Given the description of an element on the screen output the (x, y) to click on. 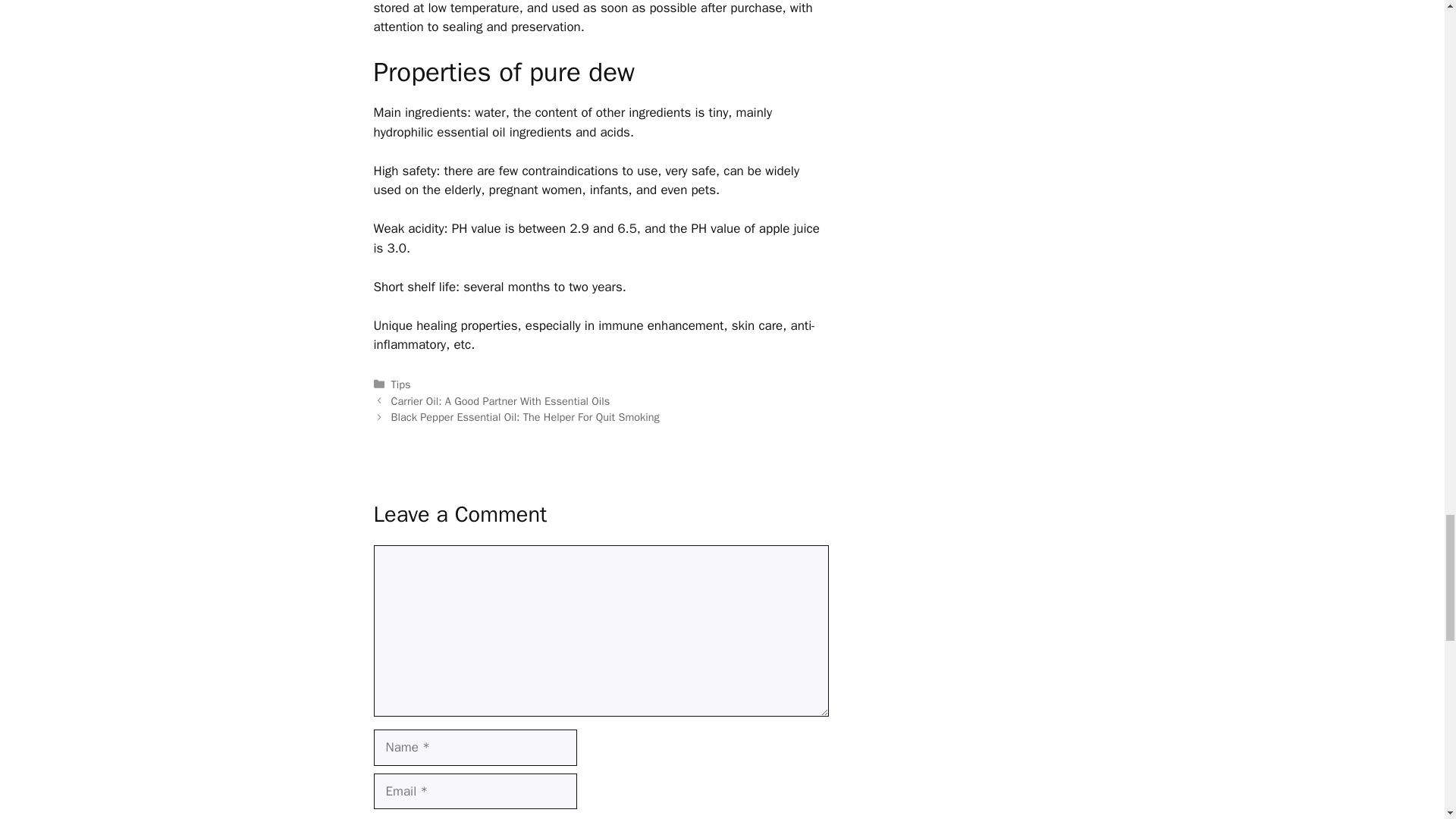
Black Pepper Essential Oil: The Helper For Quit Smoking (525, 417)
Carrier Oil: A Good Partner With Essential Oils (500, 400)
Tips (400, 384)
